Given the description of an element on the screen output the (x, y) to click on. 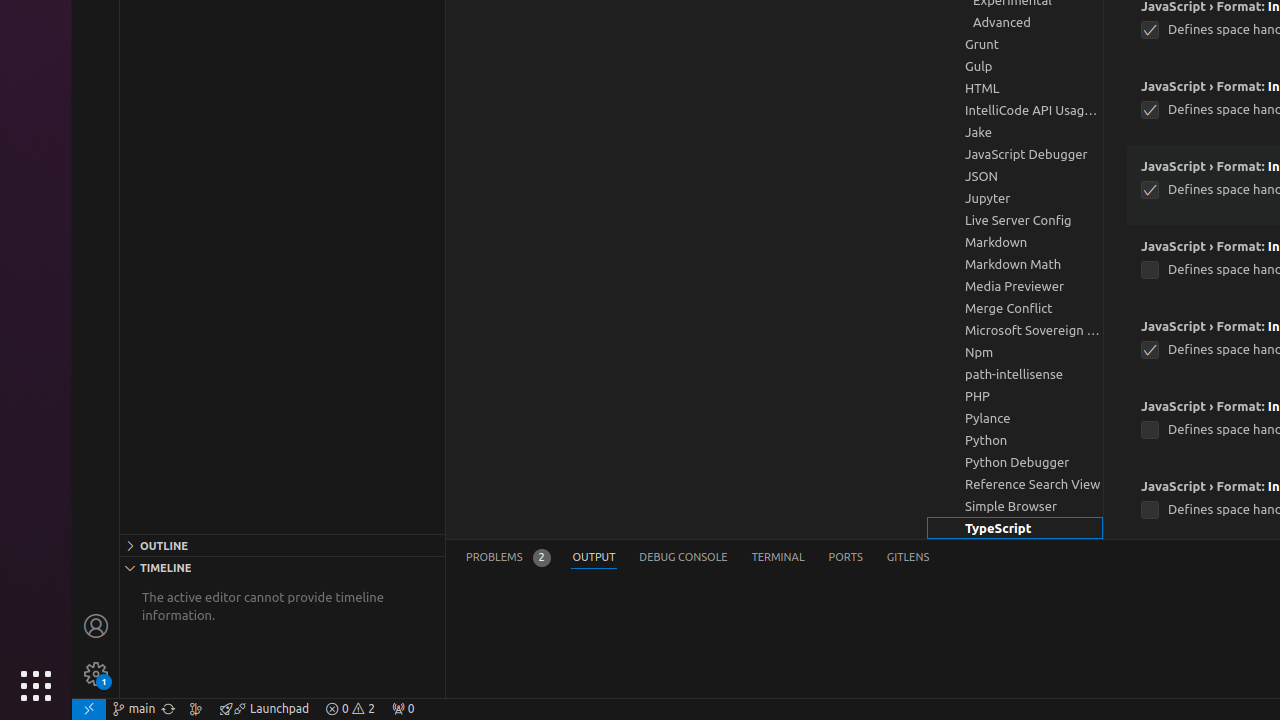
Markdown, group Element type: tree-item (1015, 241)
javascript.format.insertSpaceAfterOpeningAndBeforeClosingJsxExpressionBraces Element type: check-box (1150, 270)
Media Previewer, group Element type: tree-item (1015, 286)
Warnings: 2 Element type: push-button (350, 709)
Npm, group Element type: tree-item (1015, 352)
